Given the description of an element on the screen output the (x, y) to click on. 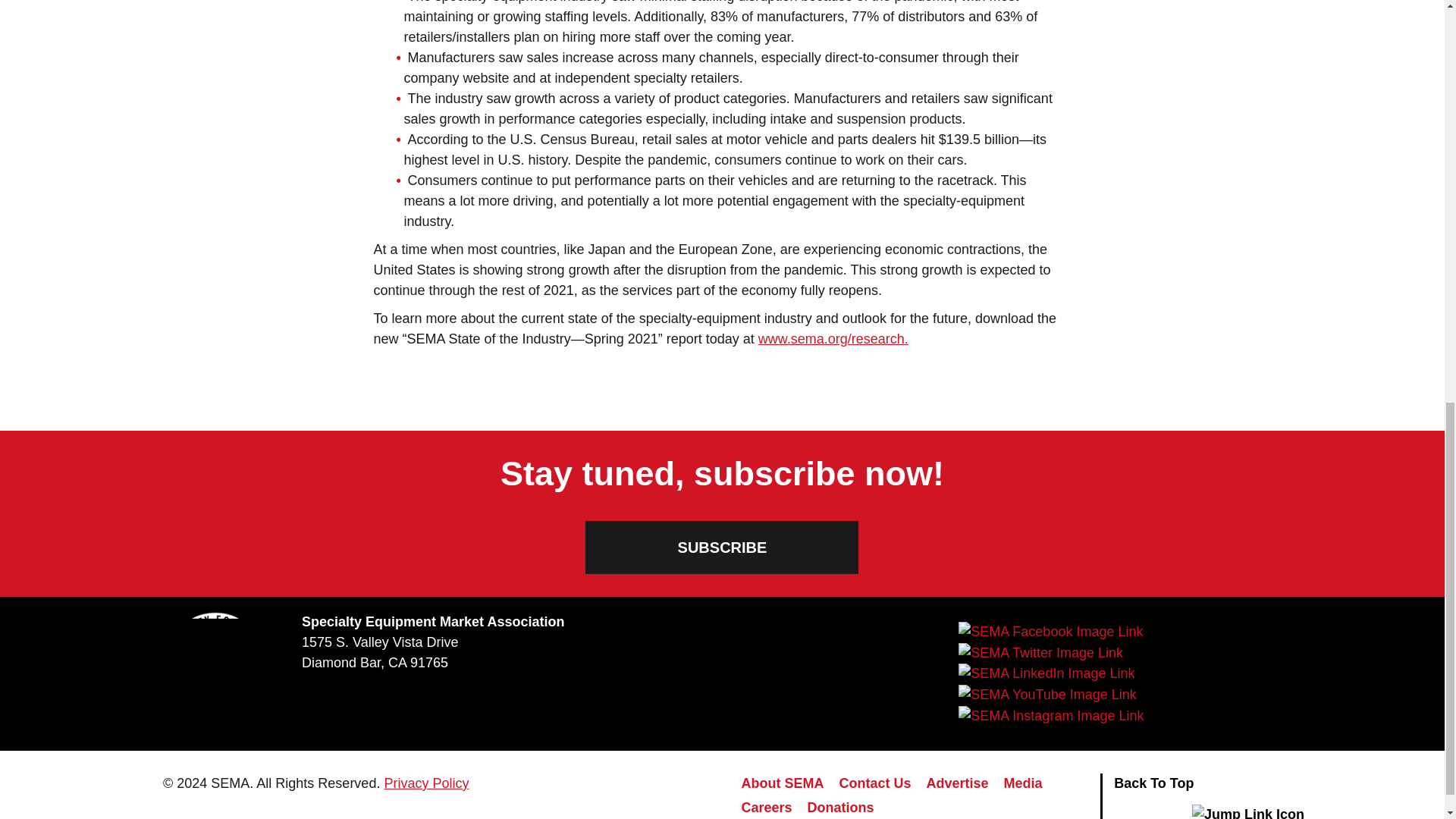
SUBSCRIBE (722, 547)
SEMA Instagram Link (1050, 715)
SEMA Facebook Link (1050, 631)
Privacy Policy (426, 783)
SEMA Twitter Link (1040, 652)
SEMA LinkedIn Link (1046, 672)
Privacy Policy (426, 783)
About SEMA (782, 785)
SEMA YouTube Link (1046, 694)
Contact Us (874, 785)
